Given the description of an element on the screen output the (x, y) to click on. 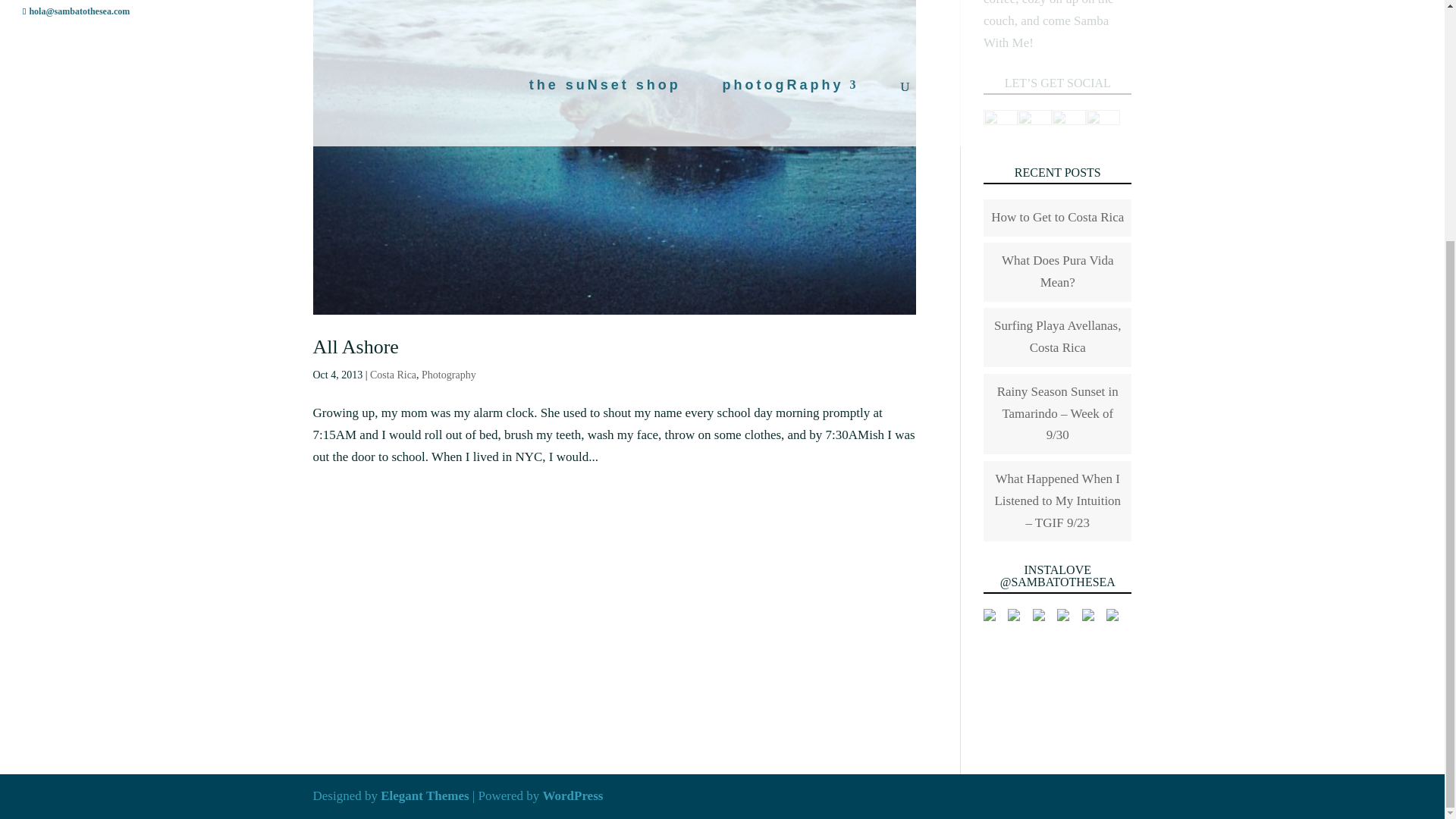
Costa Rica (392, 374)
What Does Pura Vida Mean? (1057, 271)
Photography (449, 374)
How to Get to Costa Rica (1057, 216)
Let's Get Social (1102, 126)
Let's Get Social (1034, 126)
Email (1000, 126)
Let's Get Social (1068, 126)
Elegant Themes (424, 795)
Surfing Playa Avellanas, Costa Rica (1057, 336)
